Given the description of an element on the screen output the (x, y) to click on. 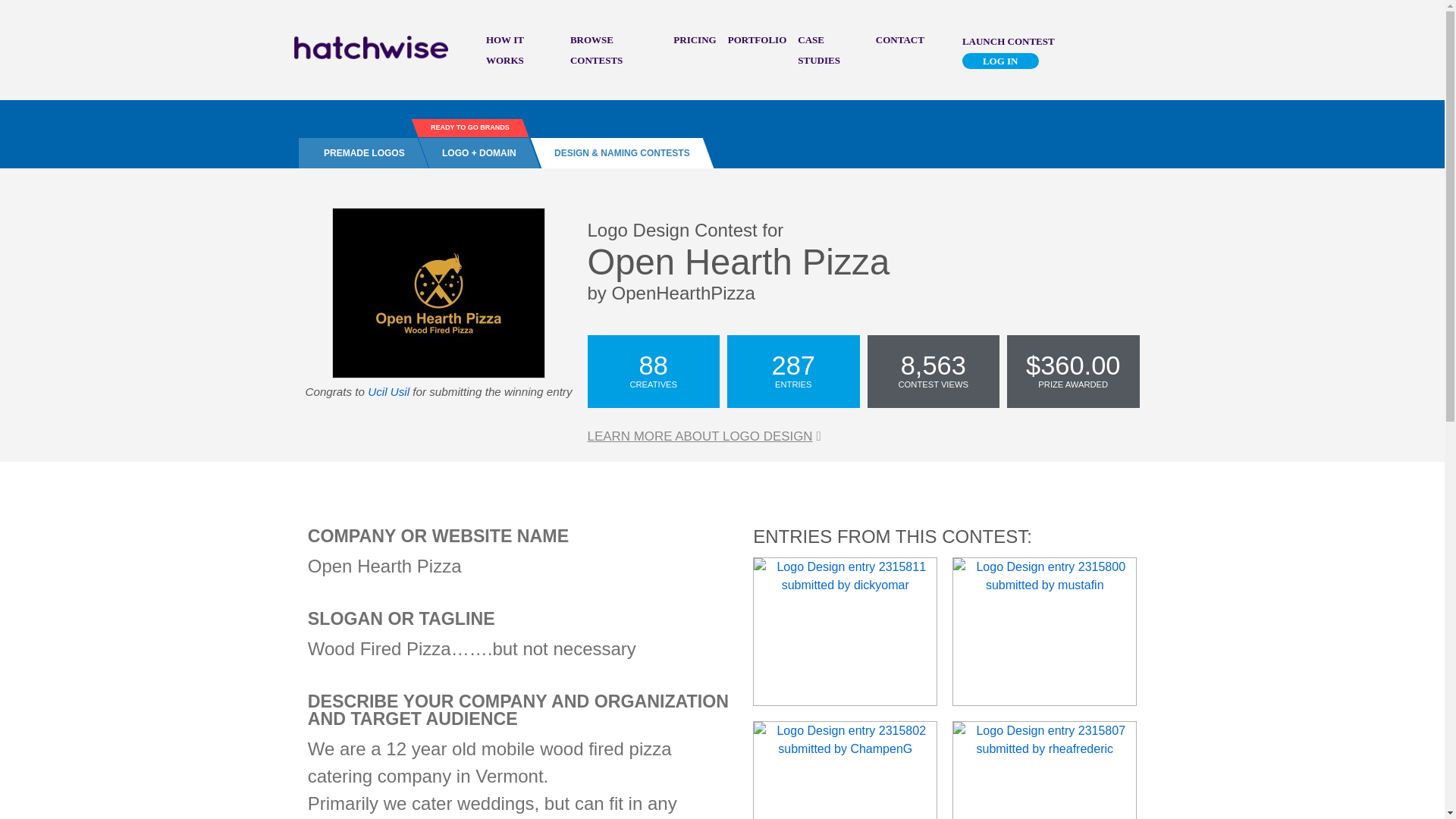
LAUNCH CONTEST (1008, 40)
LEARN MORE ABOUT LOGO DESIGN (703, 436)
CASE STUDIES (818, 50)
Ucil Usil (390, 391)
PREMADE LOGOS (357, 153)
HOW IT WORKS (505, 50)
PRICING (694, 39)
CONTACT (900, 39)
LOG IN (1000, 60)
PORTFOLIO (757, 39)
BROWSE CONTESTS (596, 50)
